Given the description of an element on the screen output the (x, y) to click on. 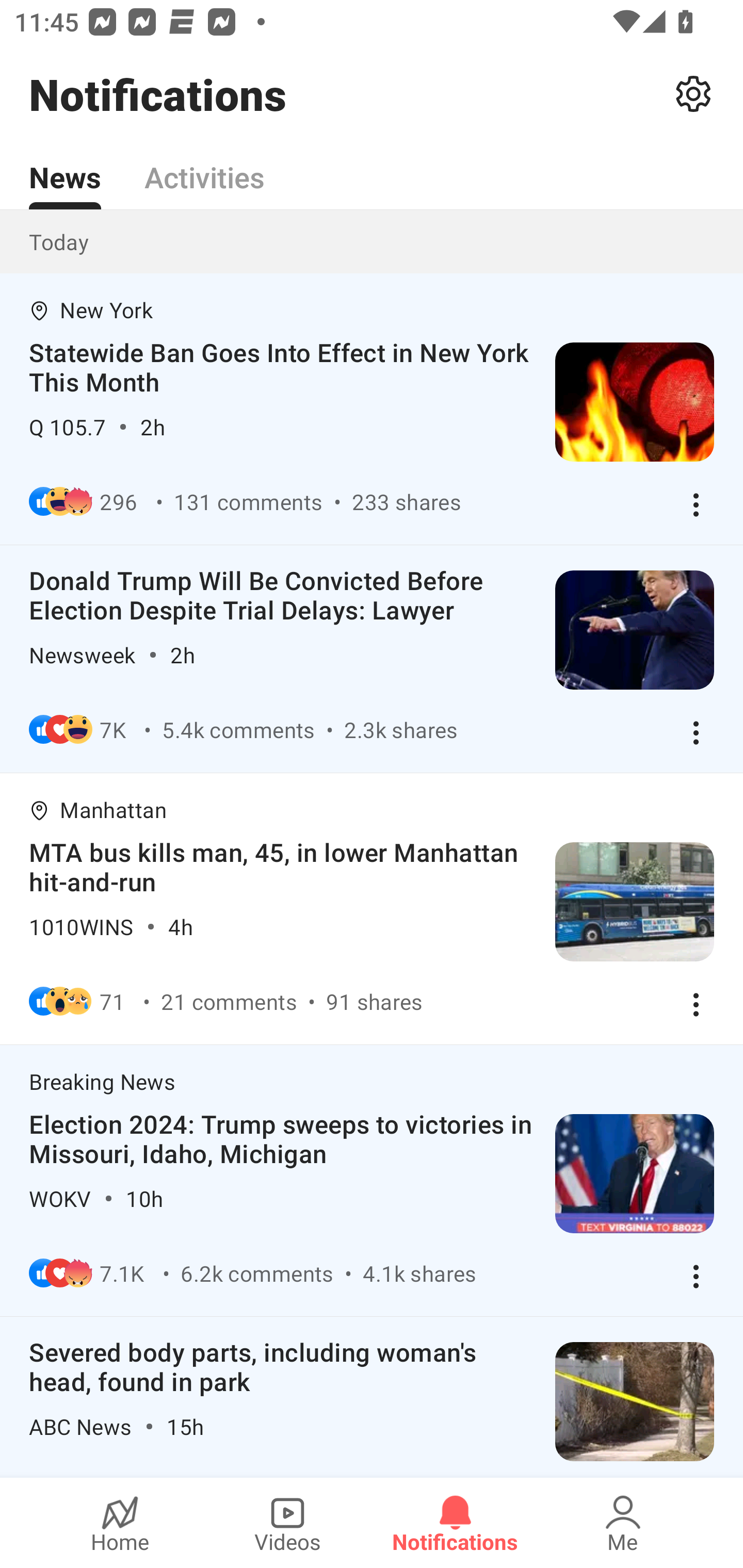
Activities (204, 166)
Home (119, 1522)
Videos (287, 1522)
Me (622, 1522)
